Given the description of an element on the screen output the (x, y) to click on. 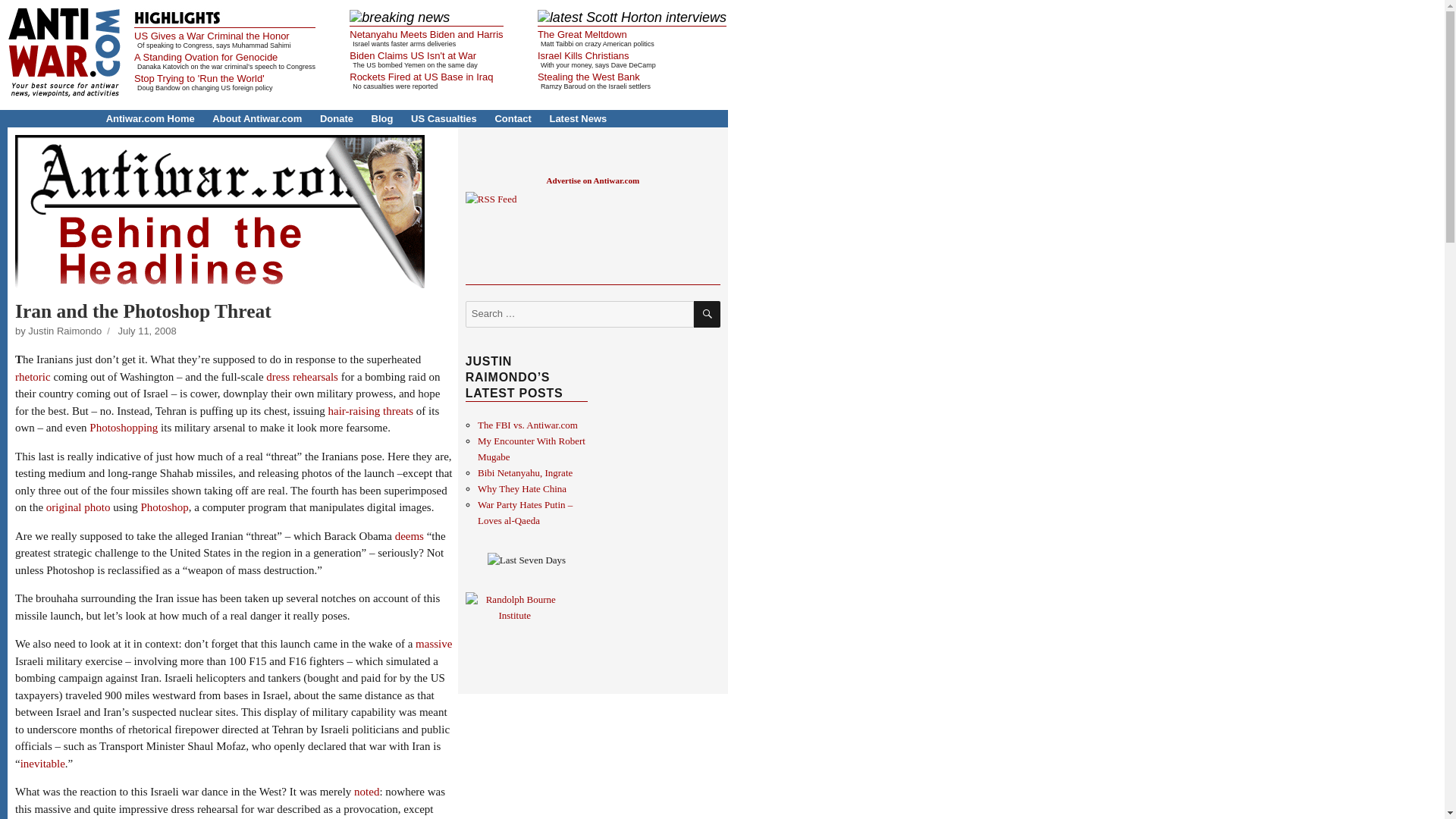
hair-raising threats (371, 410)
Latest News (577, 118)
About Antiwar.com (256, 118)
inevitable (42, 763)
Photoshopping (122, 427)
Photoshop (163, 507)
Stealing the West Bank (588, 76)
Justin Raimondo (64, 330)
US Casualties (443, 118)
Behind the Headlines (219, 211)
Stop Trying to 'Run the World' (198, 78)
The Great Meltdown (582, 34)
Posts by Justin Raimondo (64, 330)
July 11, 2008 (146, 330)
massive (432, 644)
